Given the description of an element on the screen output the (x, y) to click on. 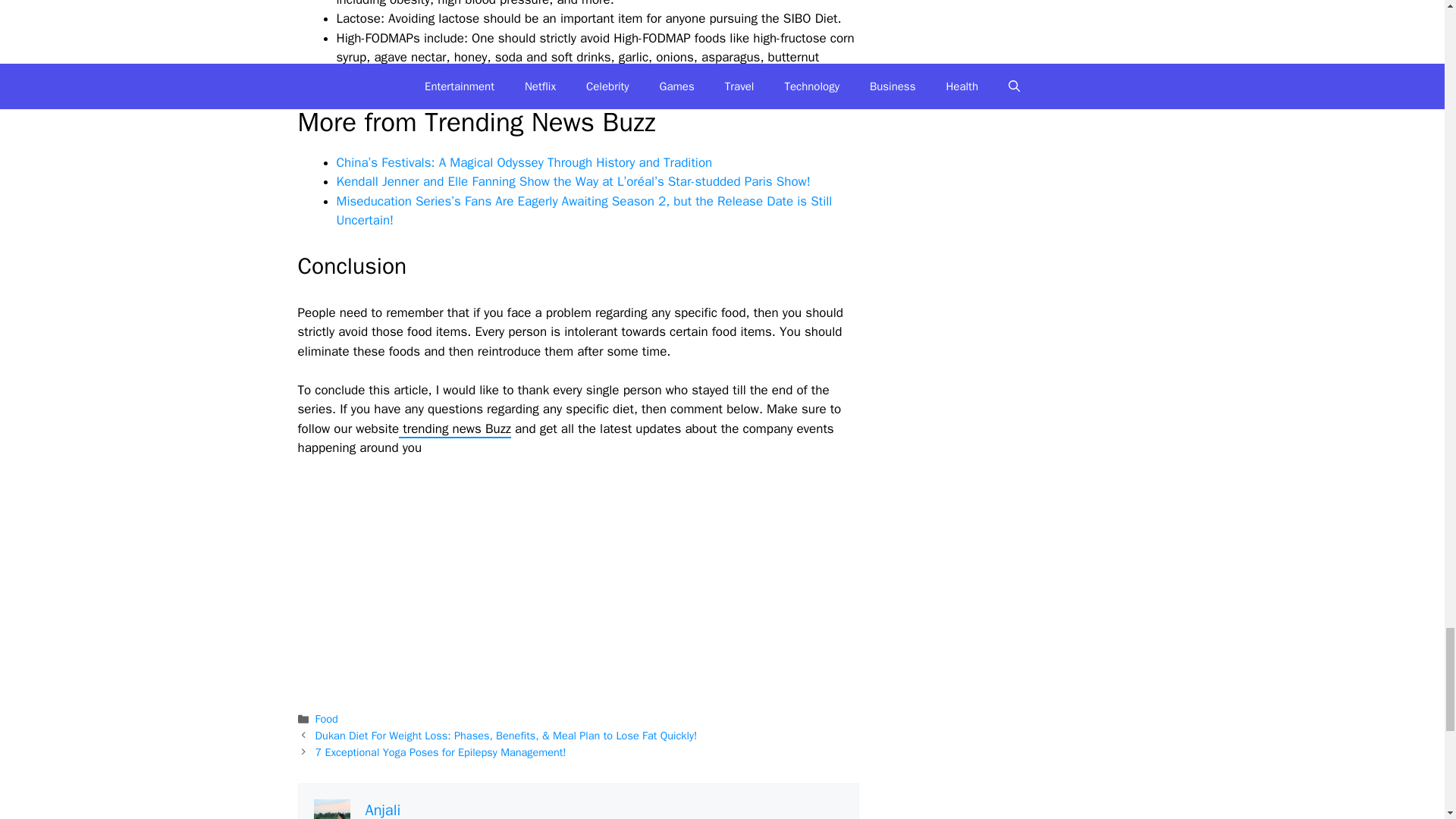
Food (326, 718)
Anjali (383, 809)
7 Exceptional Yoga Poses for Epilepsy Management! (440, 752)
trending news Buzz (454, 429)
